Given the description of an element on the screen output the (x, y) to click on. 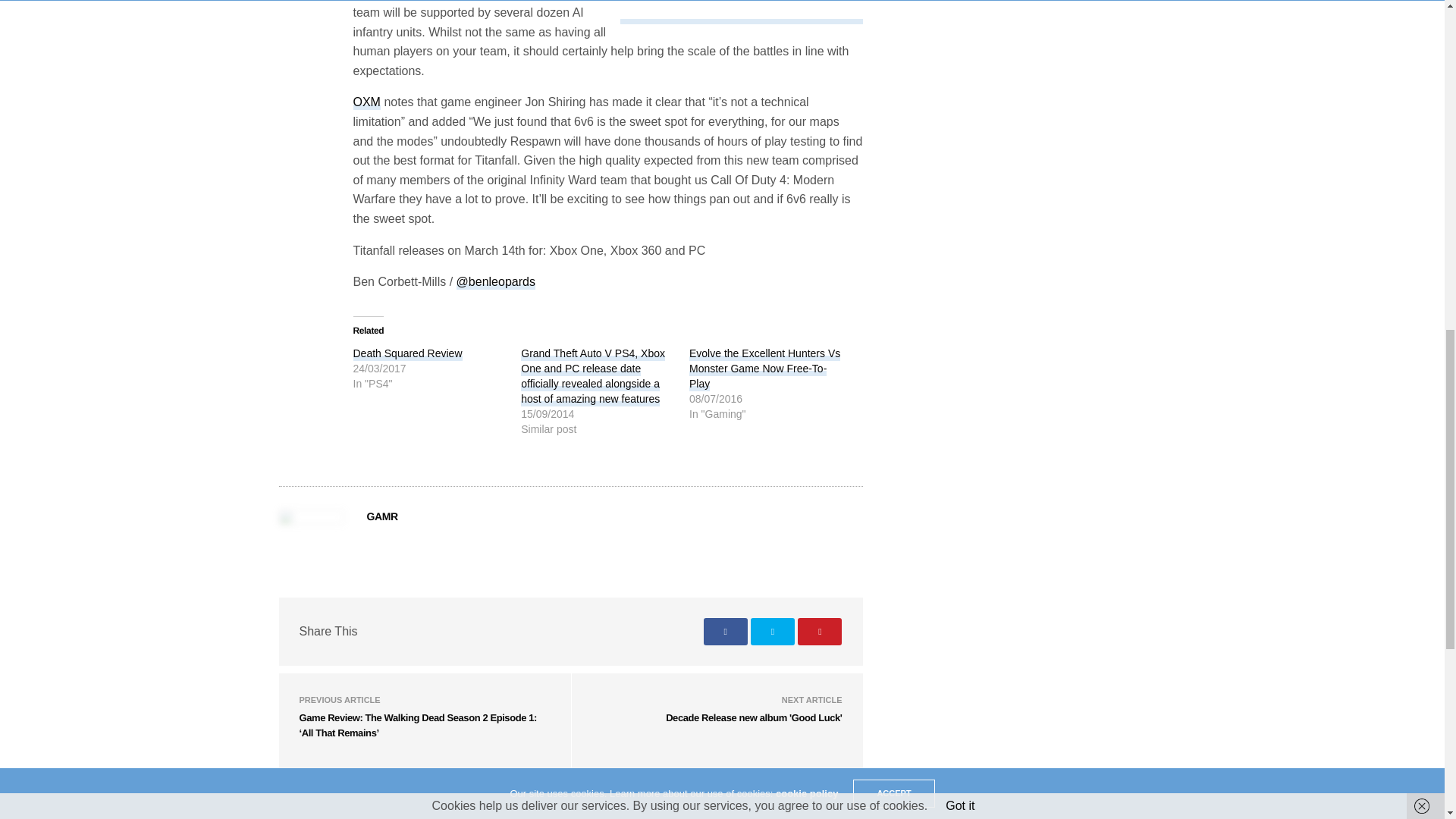
OXM (366, 102)
Death Squared Review (408, 354)
Decade Release new album 'Good Luck' (753, 717)
GAMR (381, 516)
Death Squared Review (408, 354)
